Given the description of an element on the screen output the (x, y) to click on. 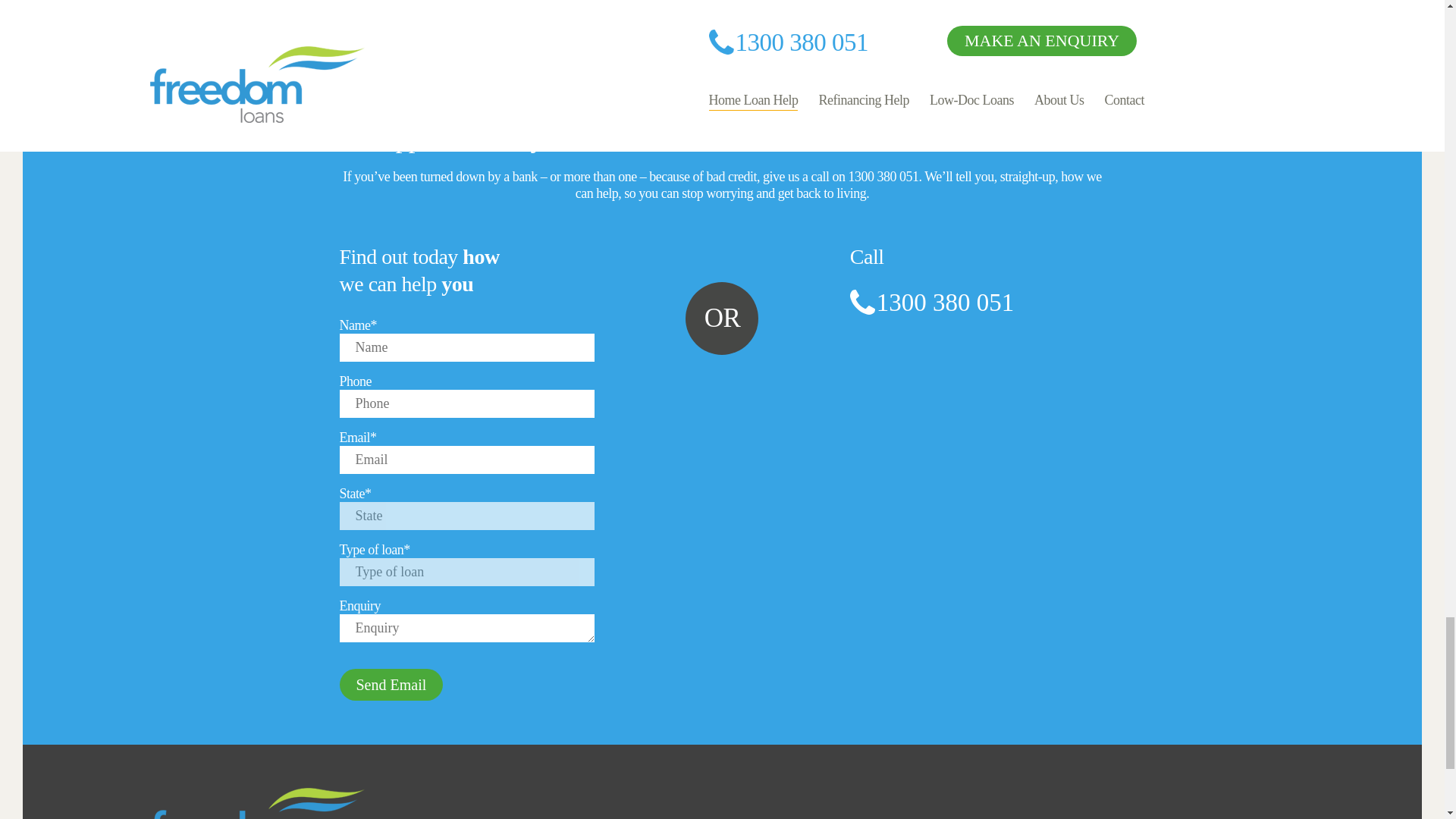
Send Email (391, 685)
